Given the description of an element on the screen output the (x, y) to click on. 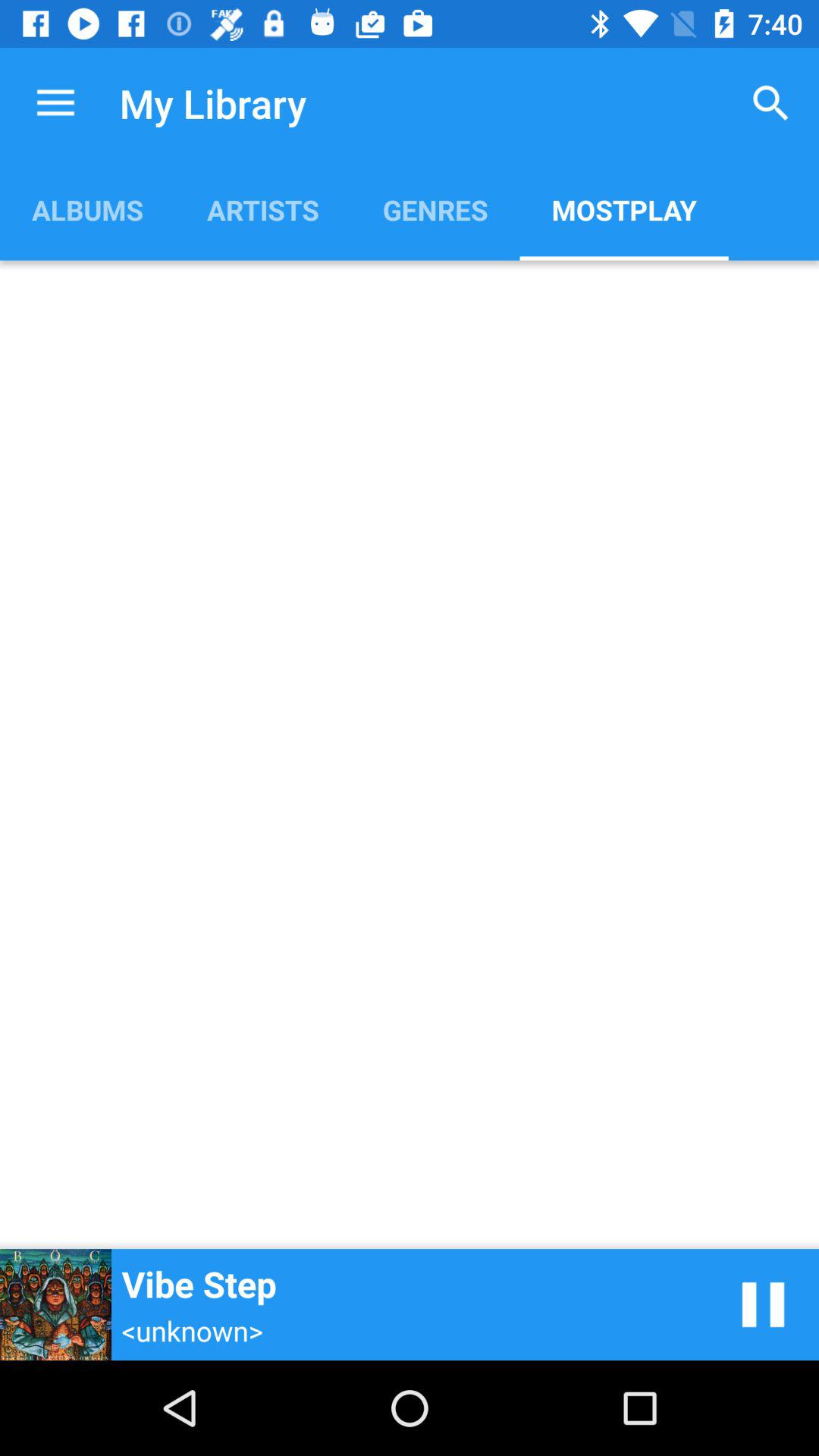
launch item next to vibe step icon (763, 1304)
